Given the description of an element on the screen output the (x, y) to click on. 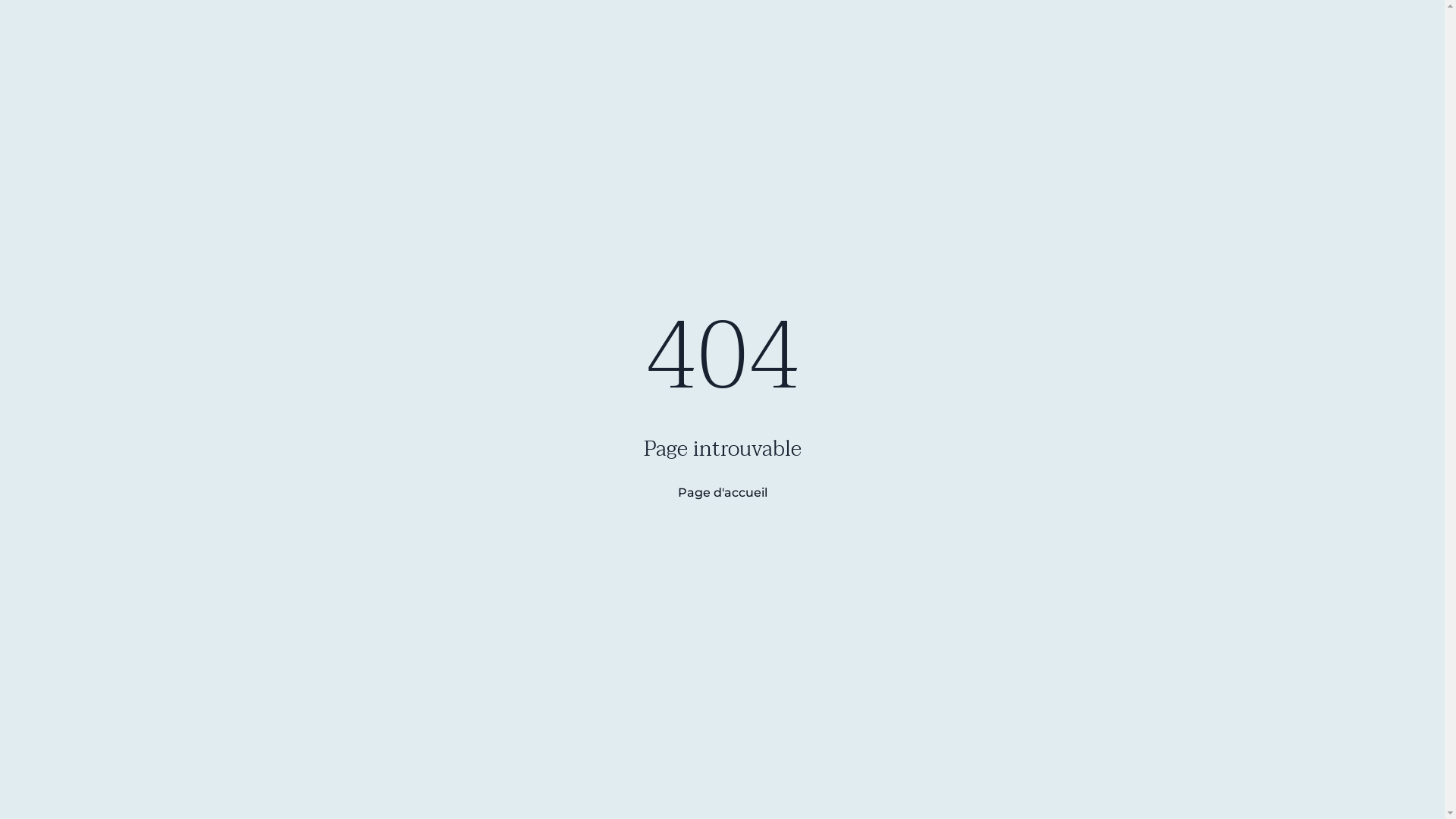
Page d'accueil Element type: text (722, 492)
